Given the description of an element on the screen output the (x, y) to click on. 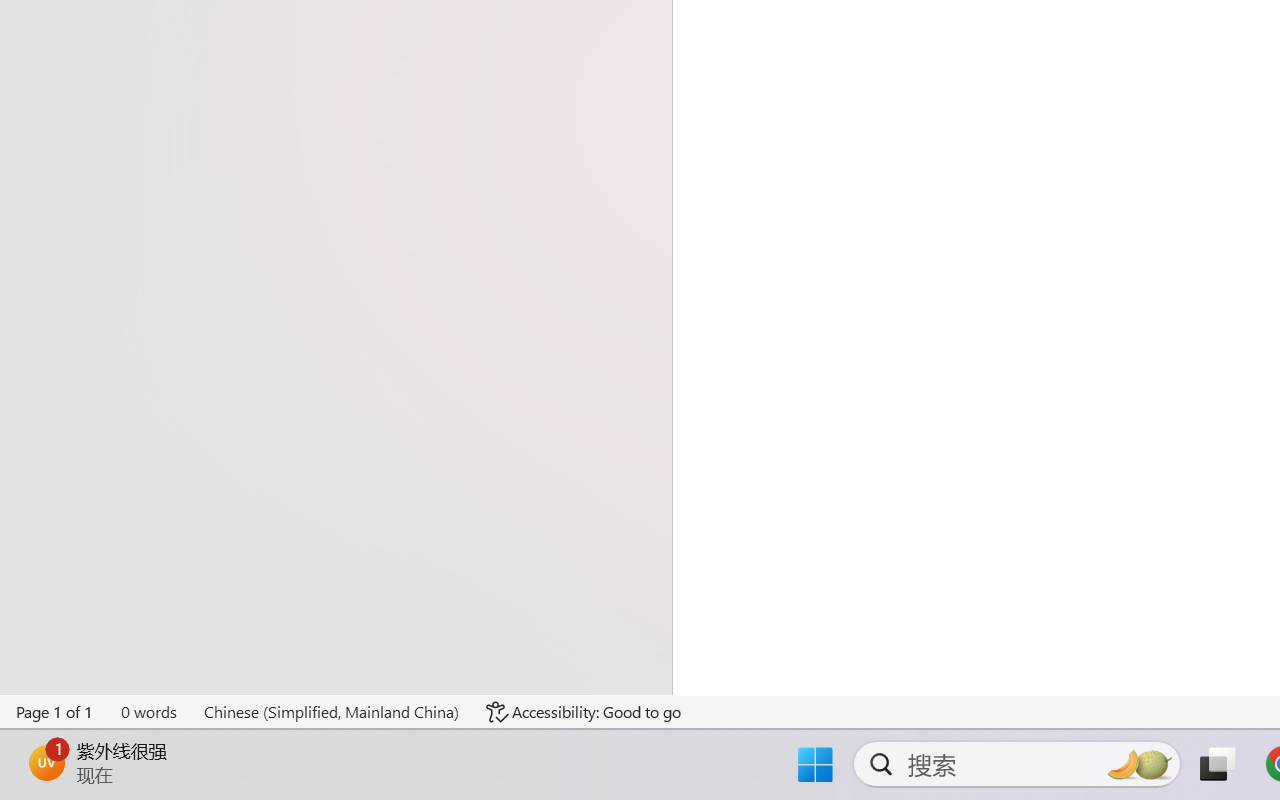
Language Chinese (Simplified, Mainland China) (331, 712)
